Given the description of an element on the screen output the (x, y) to click on. 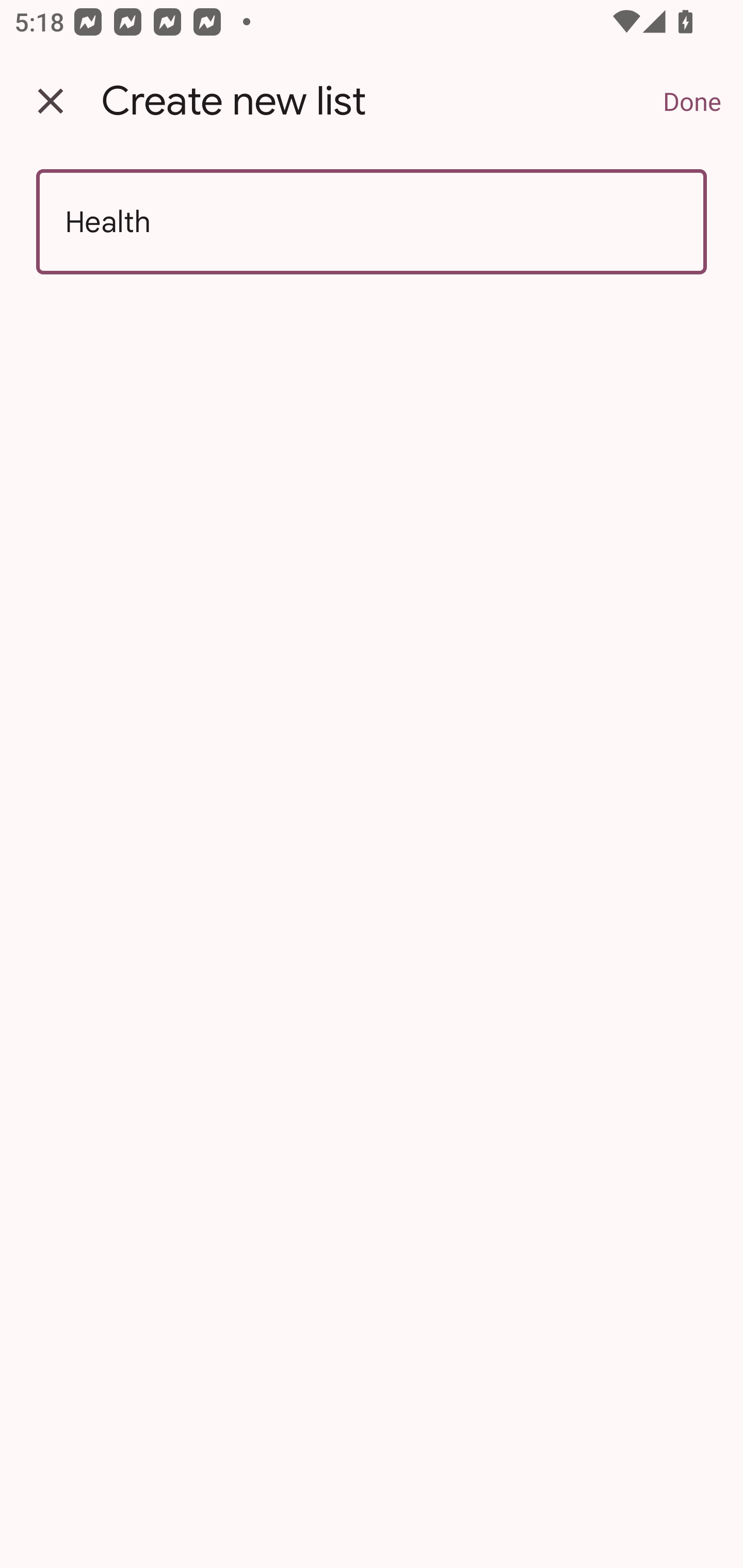
Back (50, 101)
Done (692, 101)
Health (371, 221)
